Given the description of an element on the screen output the (x, y) to click on. 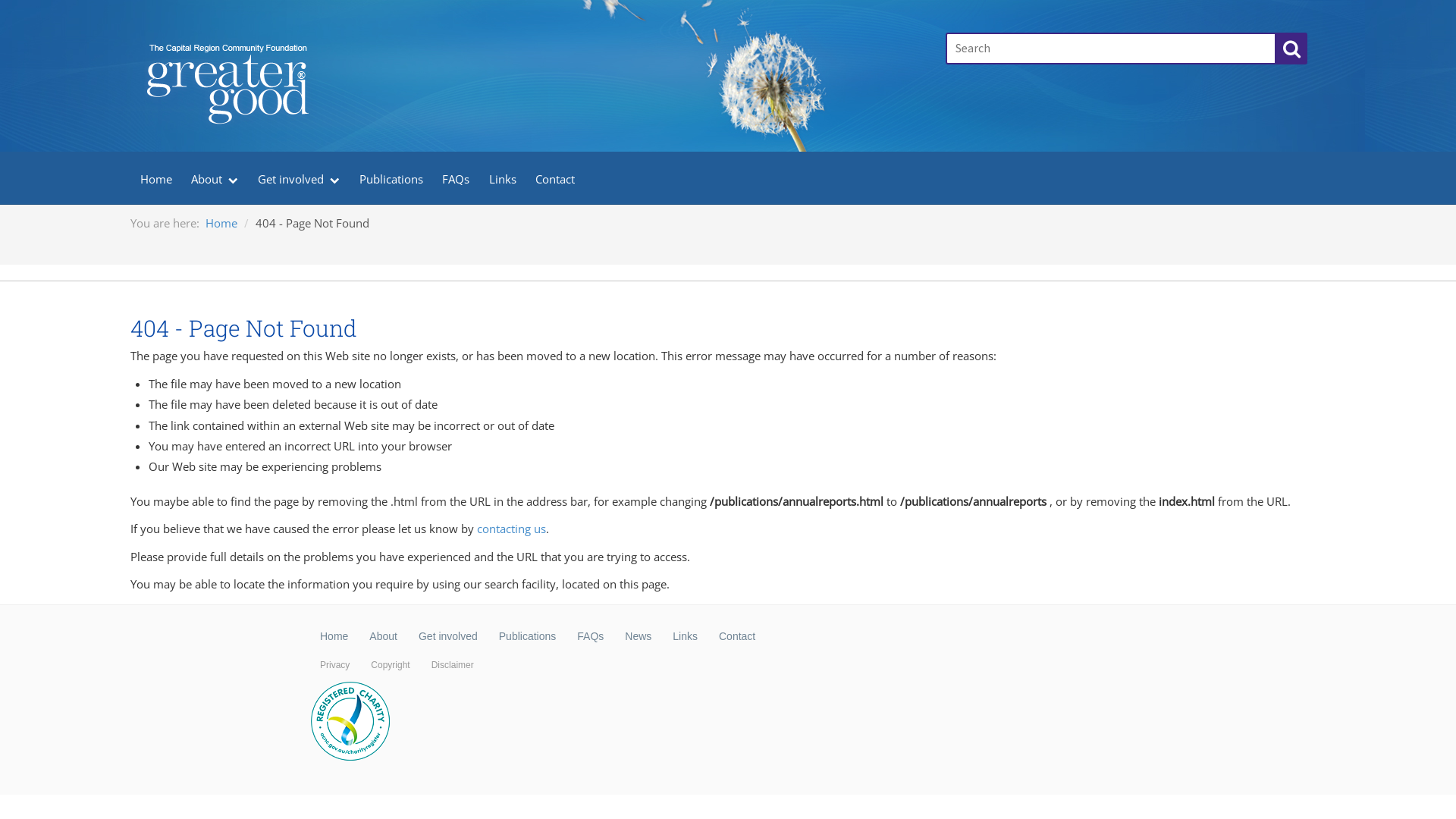
FAQs Element type: text (590, 636)
About Element type: text (382, 636)
News Element type: text (638, 636)
Get involved Element type: text (447, 636)
Privacy Element type: text (334, 664)
Copyright Element type: text (390, 664)
Link to Homepage Element type: hover (528, 34)
Home Element type: text (333, 636)
Get involved Element type: text (298, 177)
Contact Element type: text (555, 177)
About Element type: text (215, 177)
Publications Element type: text (391, 177)
Search input field Element type: hover (1110, 48)
Contact Element type: text (736, 636)
Publications Element type: text (527, 636)
ACNC Registered Charity Element type: hover (350, 721)
Home Element type: text (221, 222)
Links Element type: text (685, 636)
Disclaimer Element type: text (452, 664)
Search Element type: hover (1291, 48)
Links Element type: text (502, 177)
Home Element type: text (156, 177)
contacting us Element type: text (511, 528)
FAQs Element type: text (455, 177)
